Given the description of an element on the screen output the (x, y) to click on. 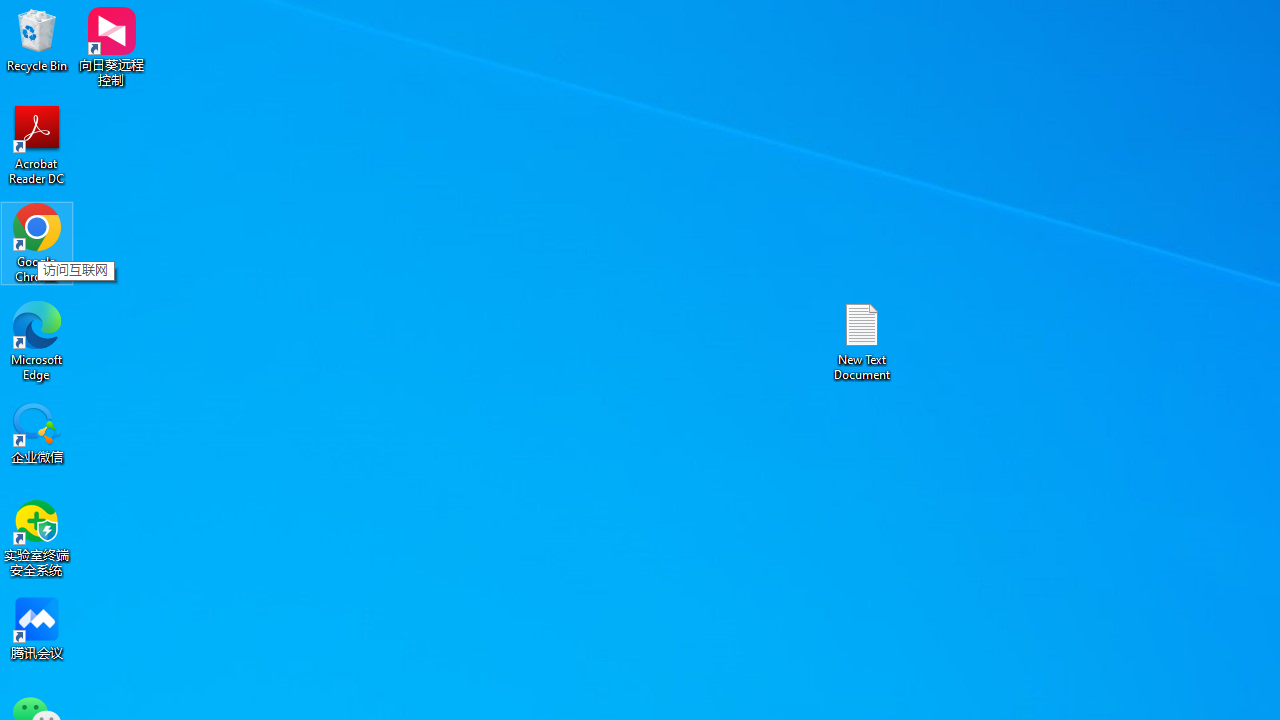
Google Chrome (37, 242)
Recycle Bin (37, 39)
New Text Document (861, 340)
Microsoft Edge (37, 340)
Acrobat Reader DC (37, 144)
